Given the description of an element on the screen output the (x, y) to click on. 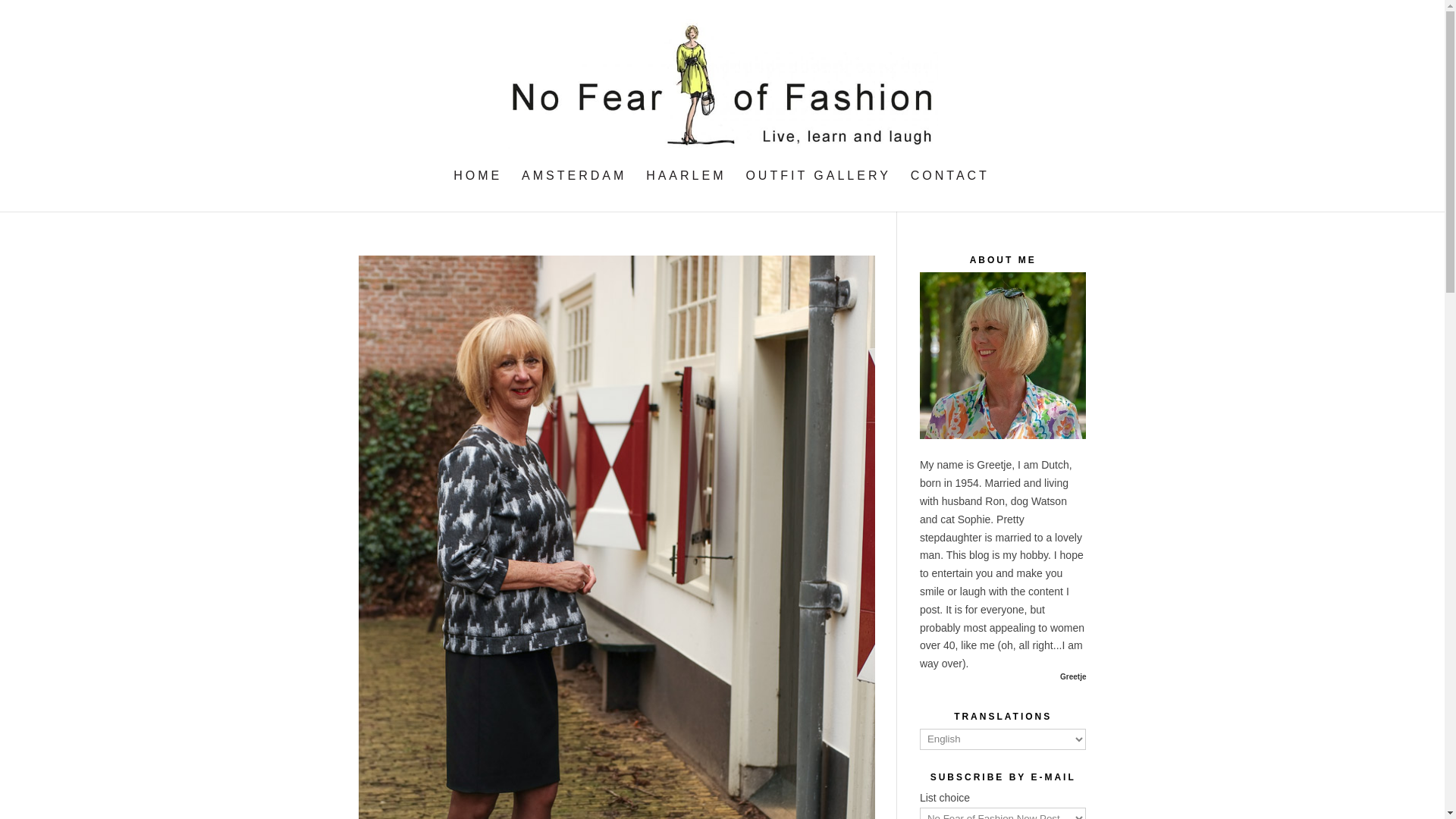
AMSTERDAM (573, 190)
OUTFIT GALLERY (817, 190)
CONTACT (950, 190)
HOME (477, 190)
HAARLEM (685, 190)
